Given the description of an element on the screen output the (x, y) to click on. 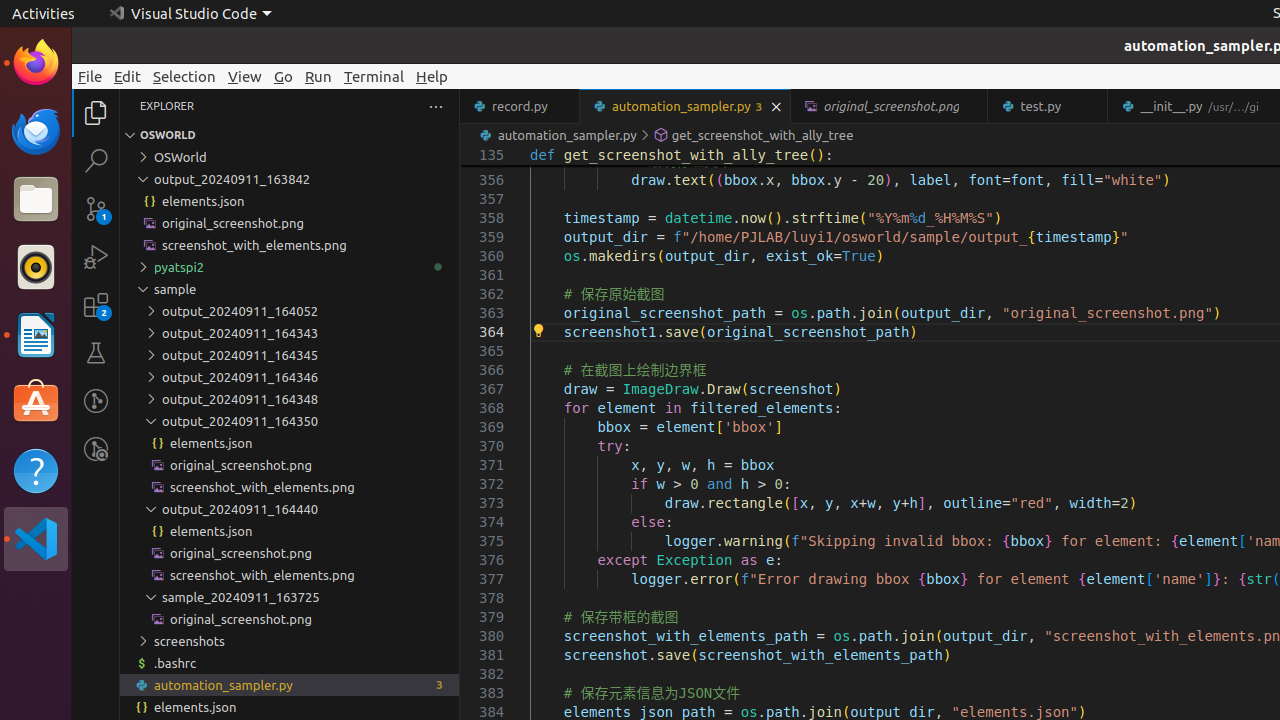
.bashrc Element type: tree-item (289, 663)
File Element type: push-button (90, 76)
Search (Ctrl+Shift+F) Element type: page-tab (96, 160)
Explorer (Ctrl+Shift+E) Element type: page-tab (96, 113)
